Given the description of an element on the screen output the (x, y) to click on. 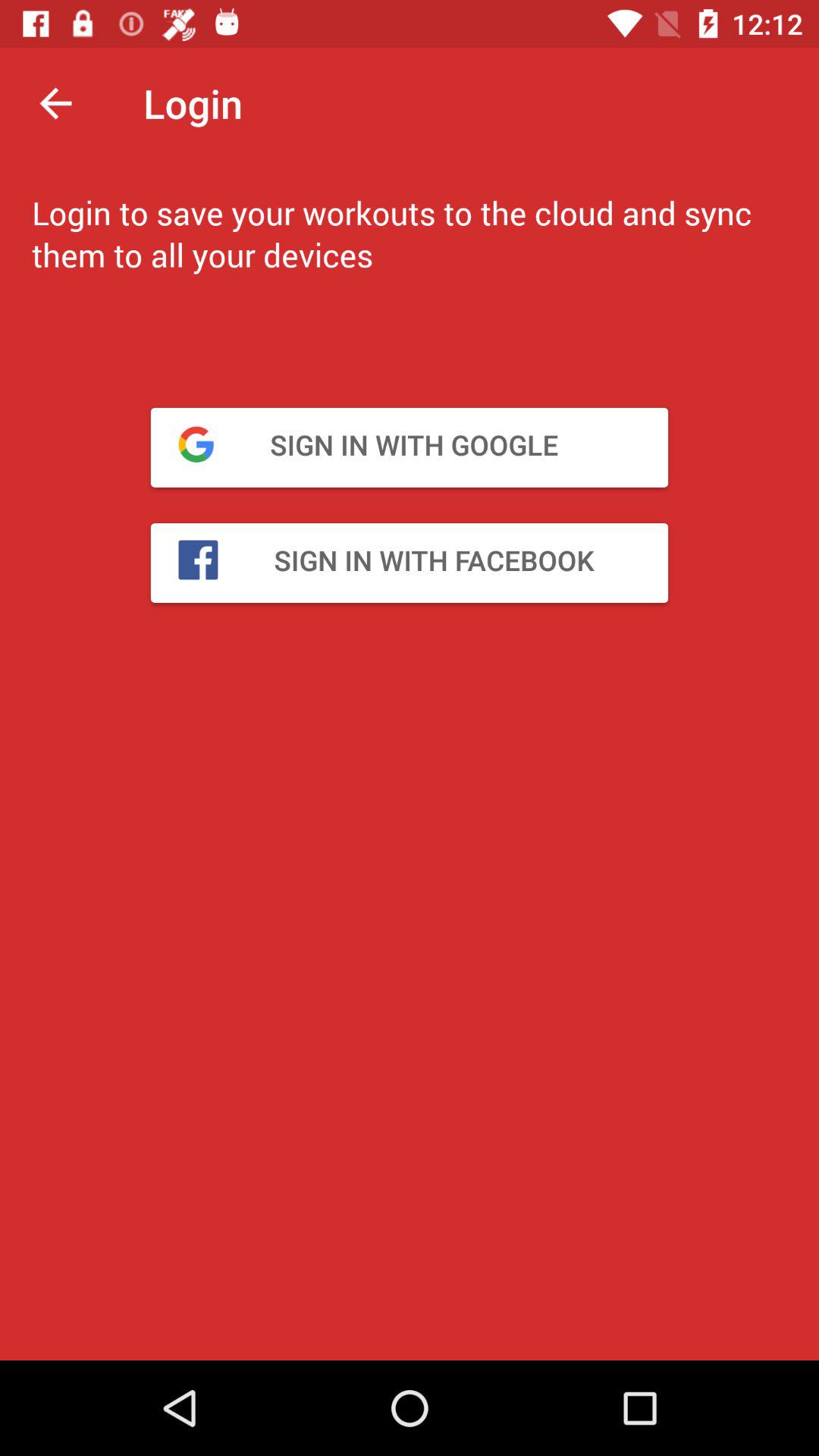
go to previous (55, 103)
